Given the description of an element on the screen output the (x, y) to click on. 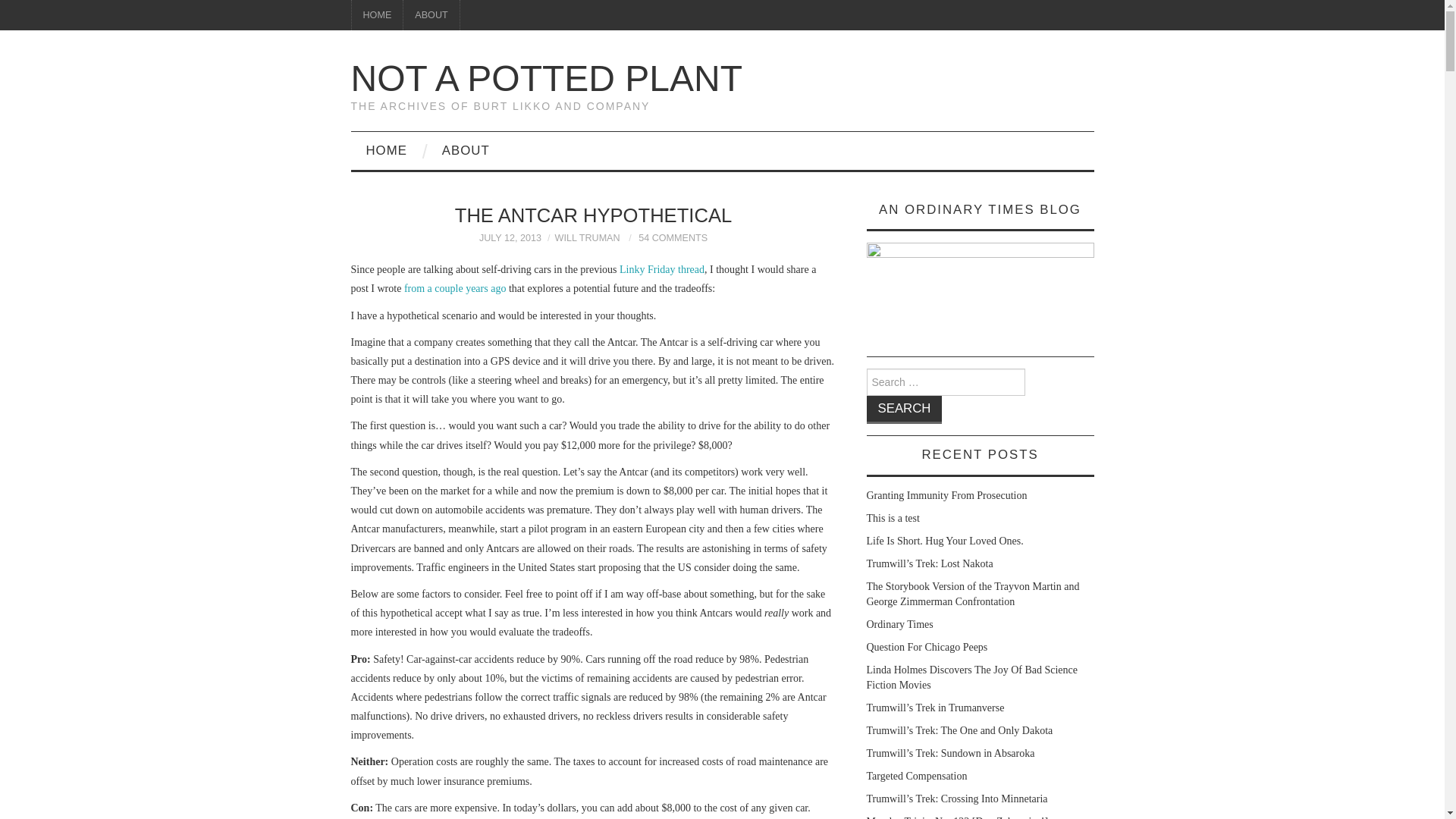
HOME (377, 15)
ABOUT (430, 15)
from a couple years ago (455, 288)
WILL TRUMAN (587, 237)
ABOUT (465, 150)
NOT A POTTED PLANT (546, 78)
Search (904, 409)
54 COMMENTS (673, 237)
Search for: (945, 381)
Search (904, 409)
JULY 12, 2013 (510, 237)
HOME (386, 150)
Not a Potted Plant (546, 78)
Linky Friday thread (662, 269)
